Given the description of an element on the screen output the (x, y) to click on. 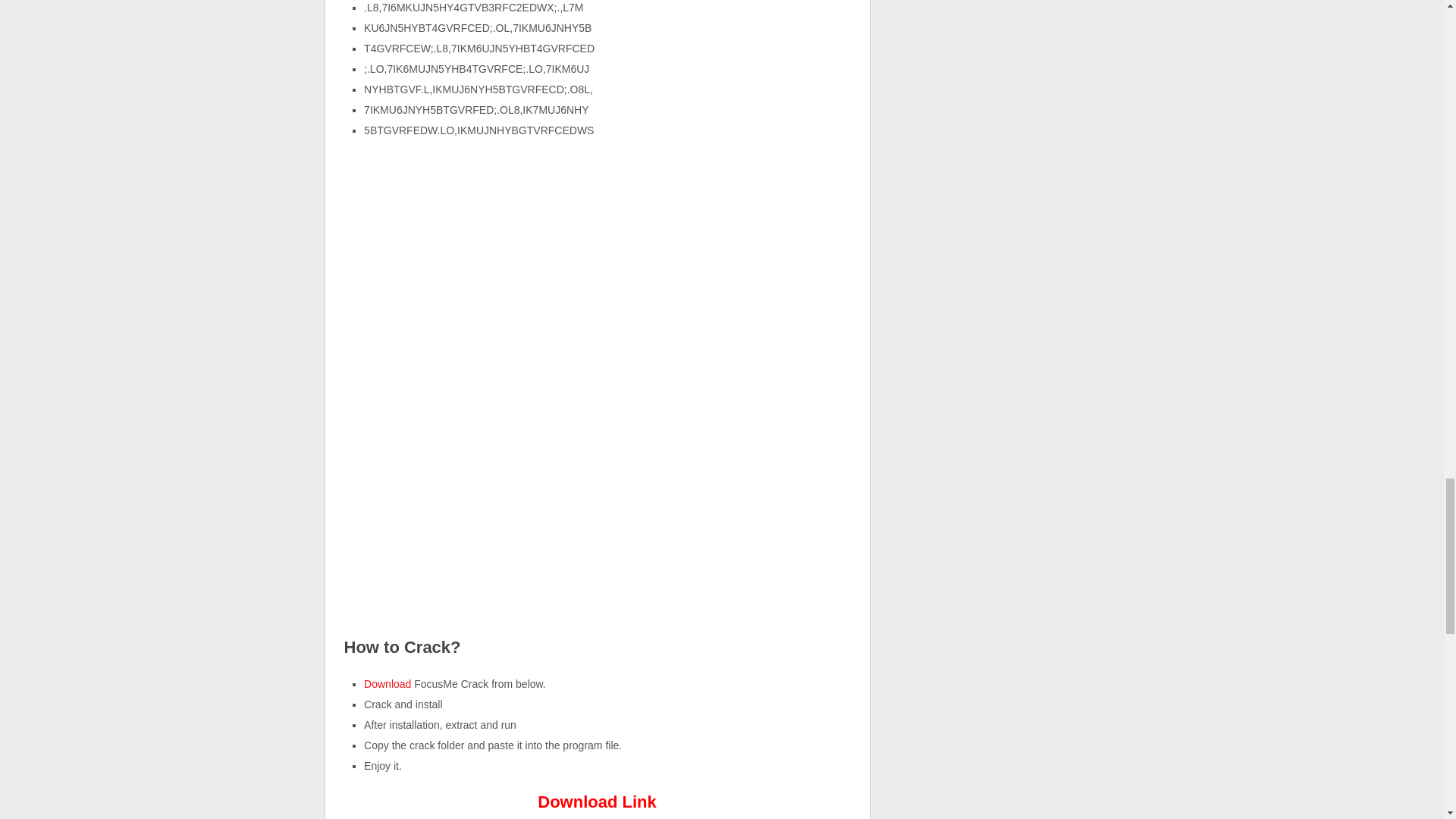
Download Link (596, 801)
Download  (388, 684)
